Given the description of an element on the screen output the (x, y) to click on. 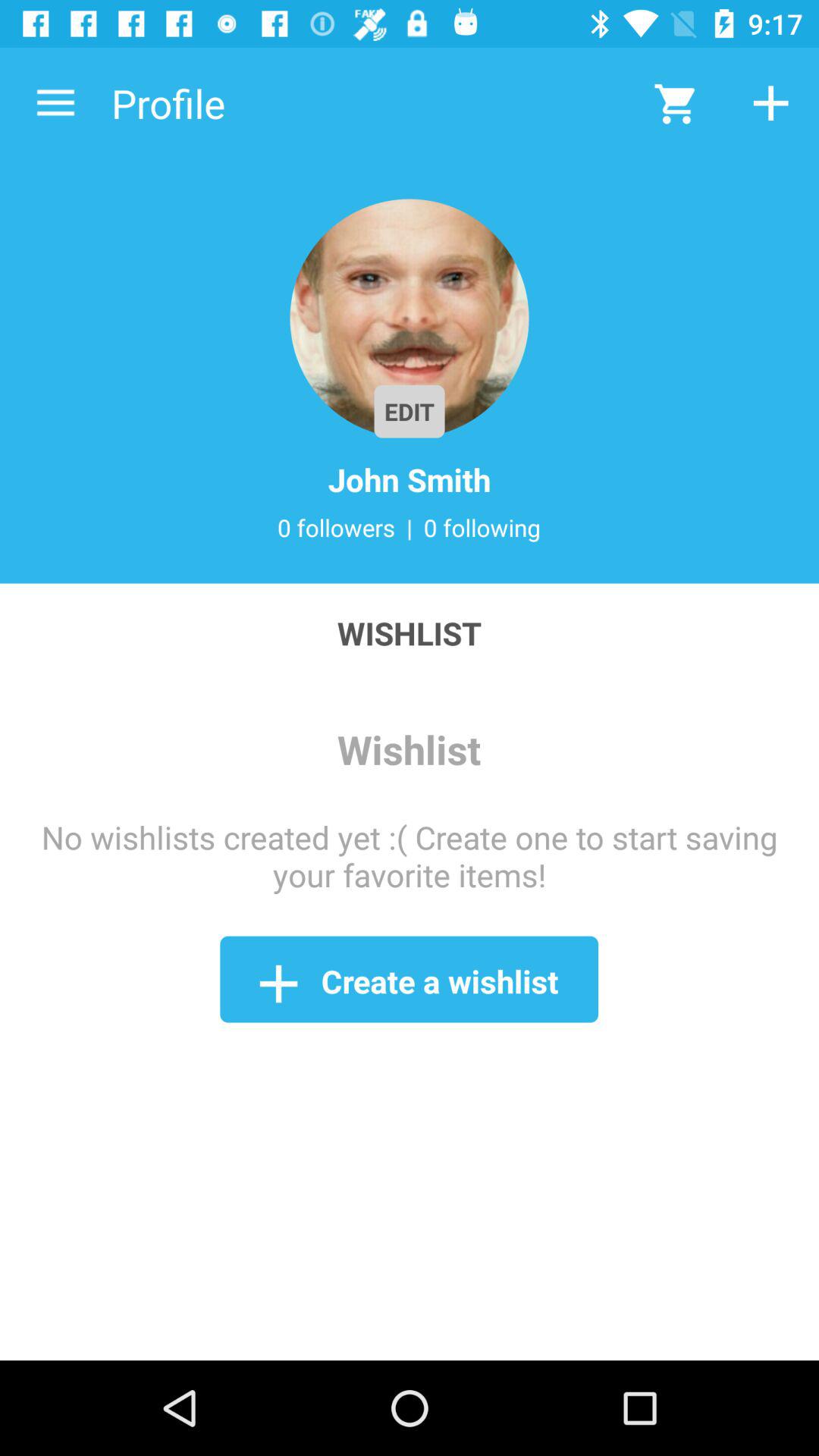
click icon below john smith (481, 527)
